Given the description of an element on the screen output the (x, y) to click on. 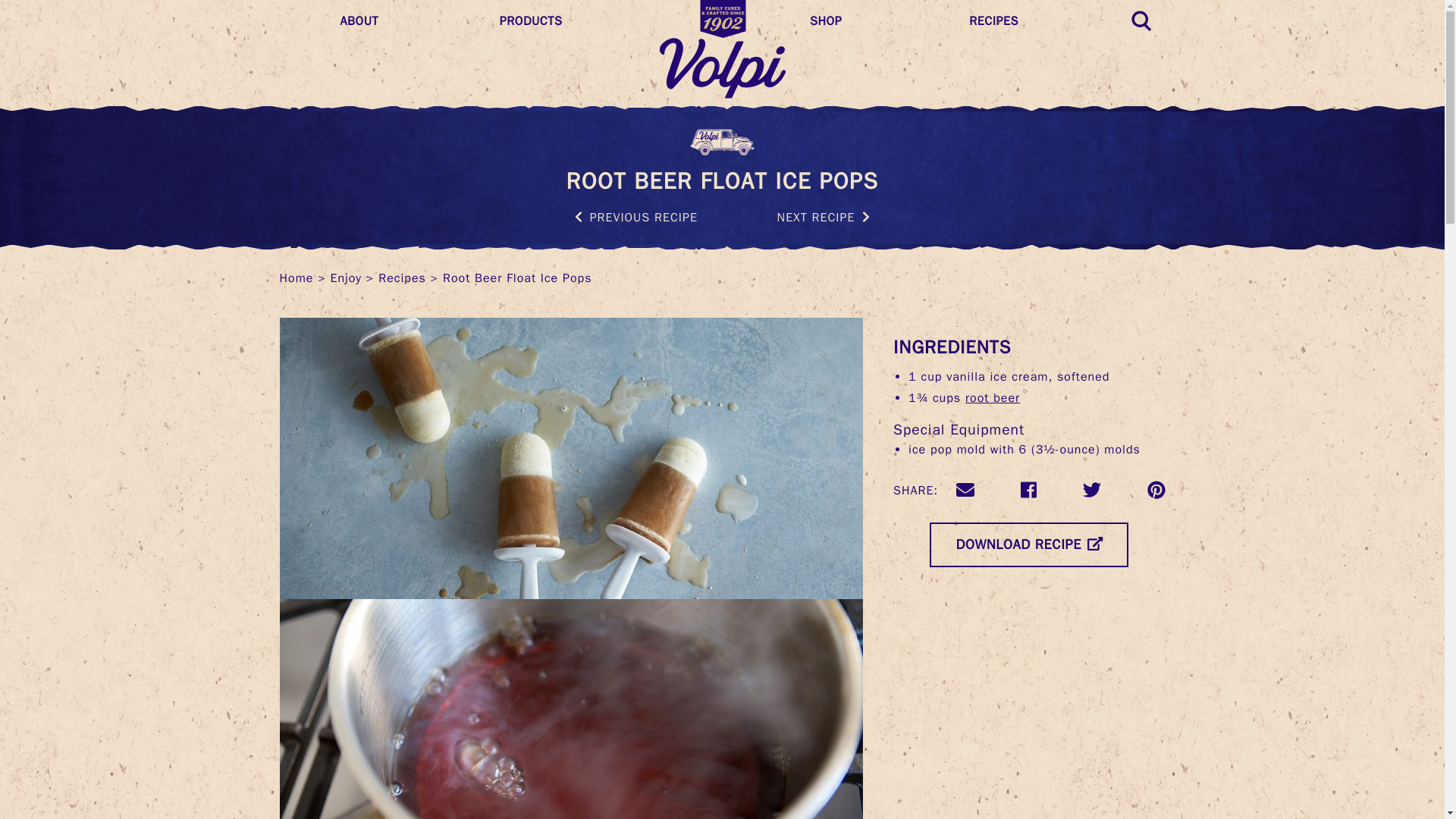
NEXT RECIPE (823, 216)
DOWNLOAD RECIPE (1029, 544)
Products (566, 20)
Go to Root Beer Float Ice Pops. (517, 277)
Home (296, 277)
PREVIOUS RECIPE (636, 216)
Shop (876, 20)
PRODUCTS (566, 20)
root beer (992, 396)
SHOP (876, 20)
Go to Recipes. (402, 277)
About (406, 20)
Enjoy (345, 277)
ABOUT (406, 20)
Go to Enjoy. (345, 277)
